Given the description of an element on the screen output the (x, y) to click on. 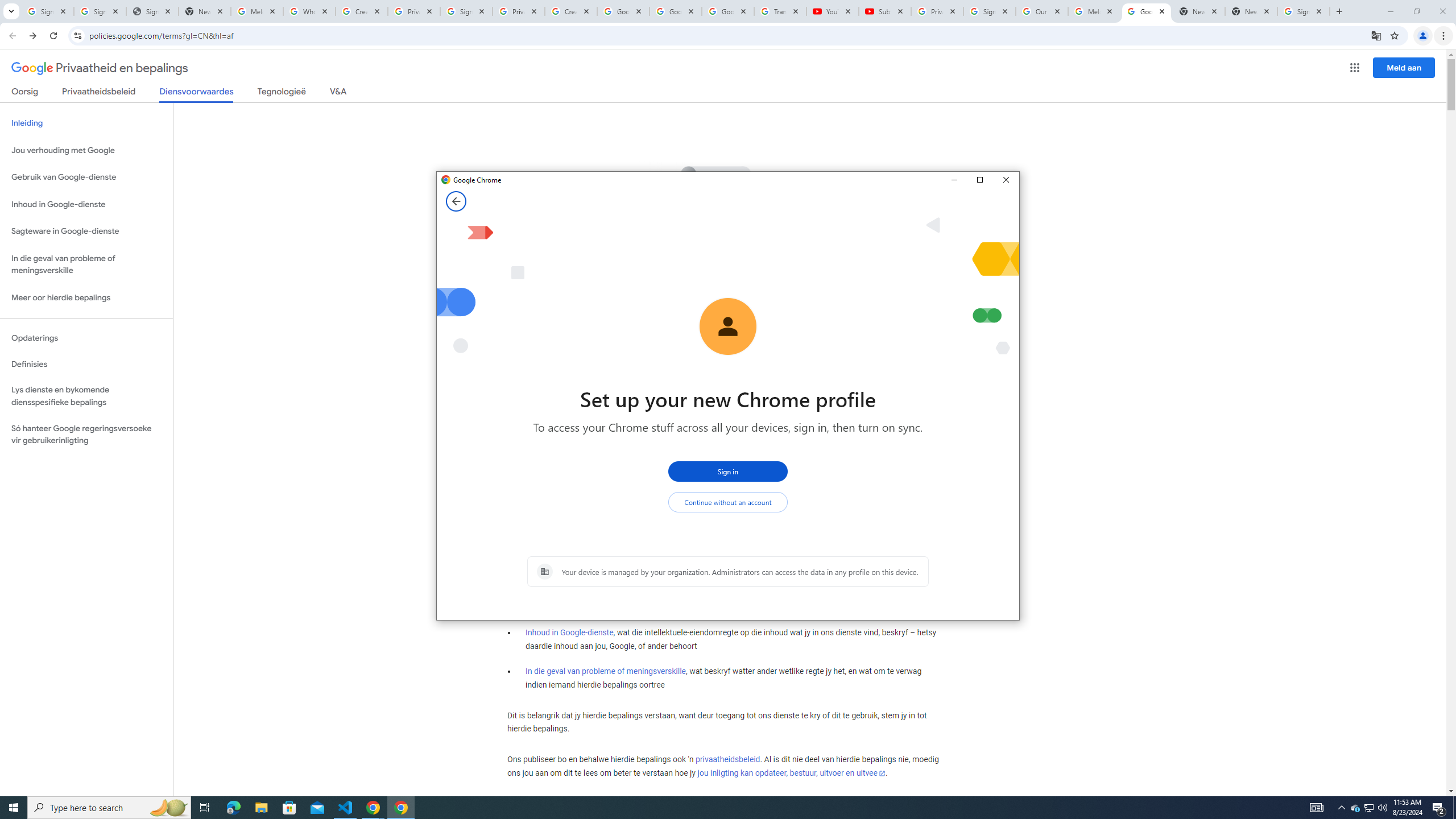
Gebruik van Google-dienste (86, 176)
Q2790: 100% (1382, 807)
Privaatheid en bepalings (99, 68)
Definisies (86, 363)
Google Chrome - 2 running windows (373, 807)
New Tab (1251, 11)
Jou verhouding met Google (86, 150)
Sign in - Google Accounts (47, 11)
Type here to search (108, 807)
Visual Studio Code - 1 running window (1368, 807)
